Given the description of an element on the screen output the (x, y) to click on. 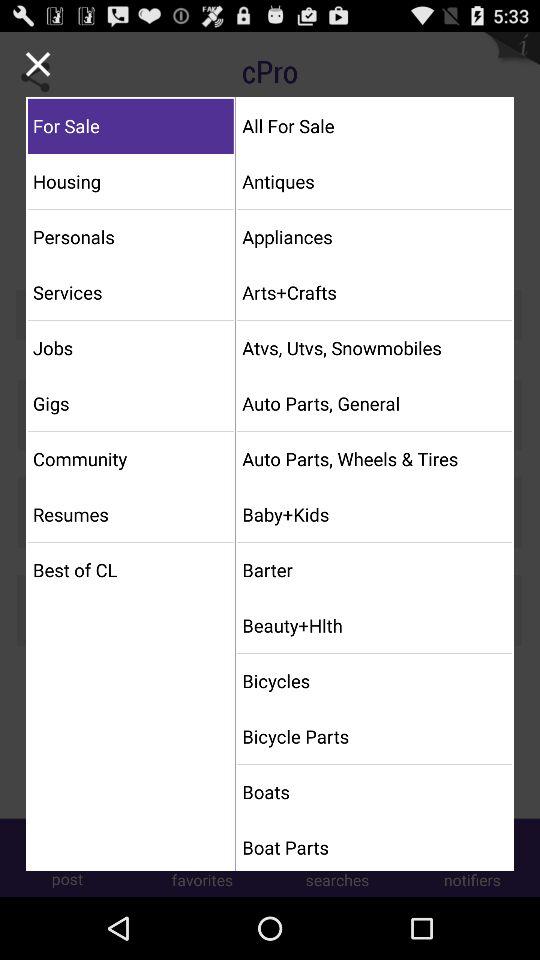
select personals icon (130, 236)
